Given the description of an element on the screen output the (x, y) to click on. 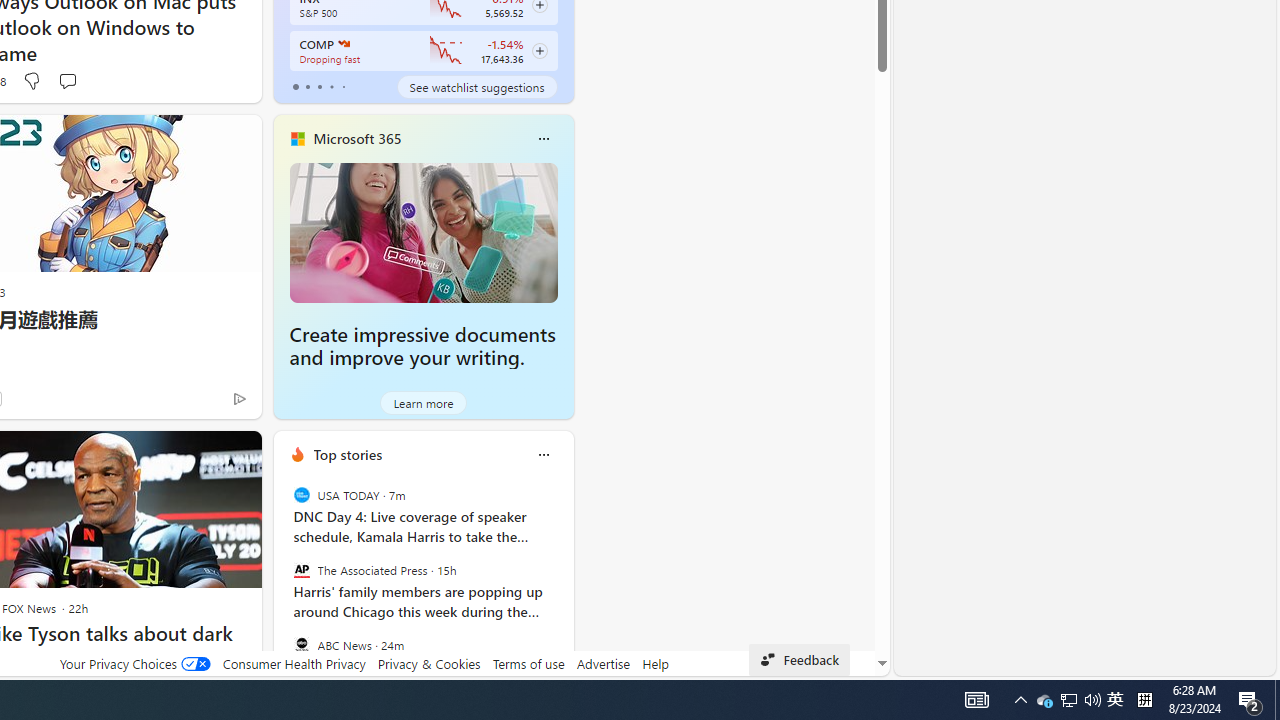
ABC News (301, 644)
tab-1 (306, 86)
Create impressive documents and improve your writing. (422, 346)
next (563, 583)
tab-0 (295, 86)
NASDAQ (342, 43)
